Given the description of an element on the screen output the (x, y) to click on. 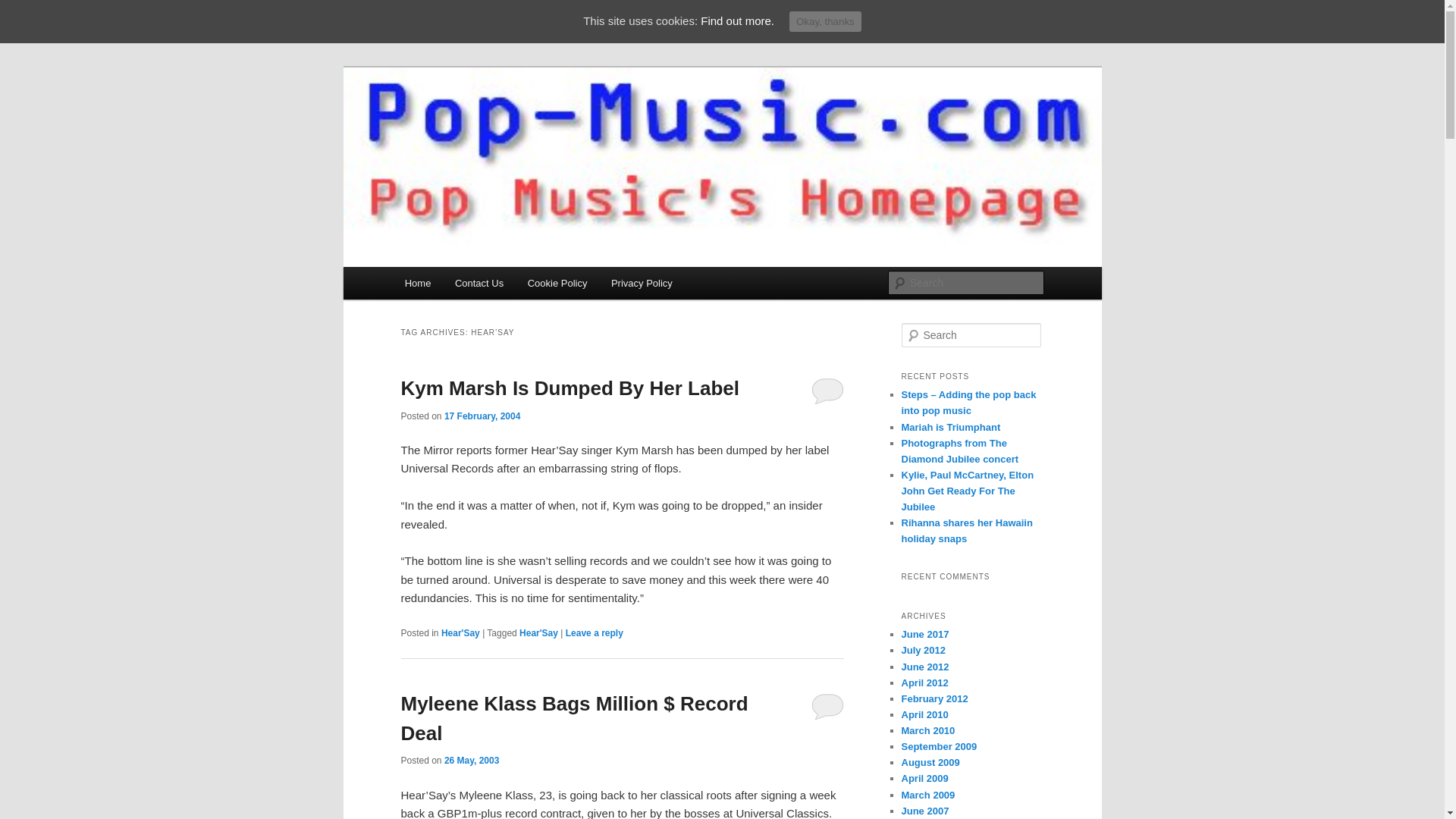
Cookie Policy (556, 282)
Search (24, 8)
5:05 pm (471, 760)
8:00 am (482, 416)
Privacy Policy (641, 282)
Kym Marsh Is Dumped By Her Label (569, 387)
17 February, 2004 (482, 416)
Leave a reply (594, 633)
Contact Us (478, 282)
